Given the description of an element on the screen output the (x, y) to click on. 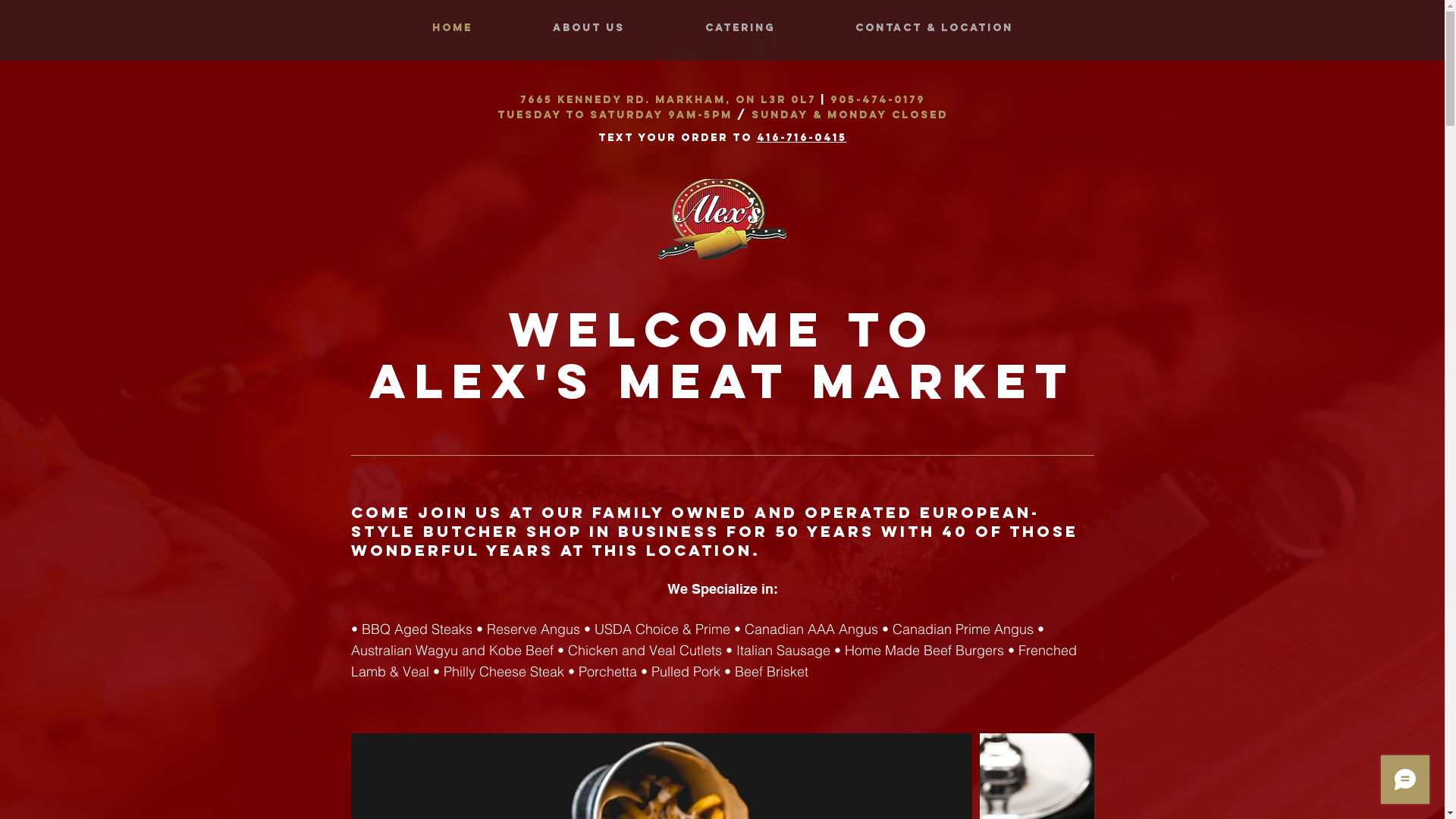
CATERING Element type: text (739, 27)
ABOUT US Element type: text (588, 27)
CONTACT & LOCATION Element type: text (933, 27)
HOME Element type: text (451, 27)
Restaurant Social Bar Element type: hover (1414, 333)
image14o.png Element type: hover (722, 218)
